Given the description of an element on the screen output the (x, y) to click on. 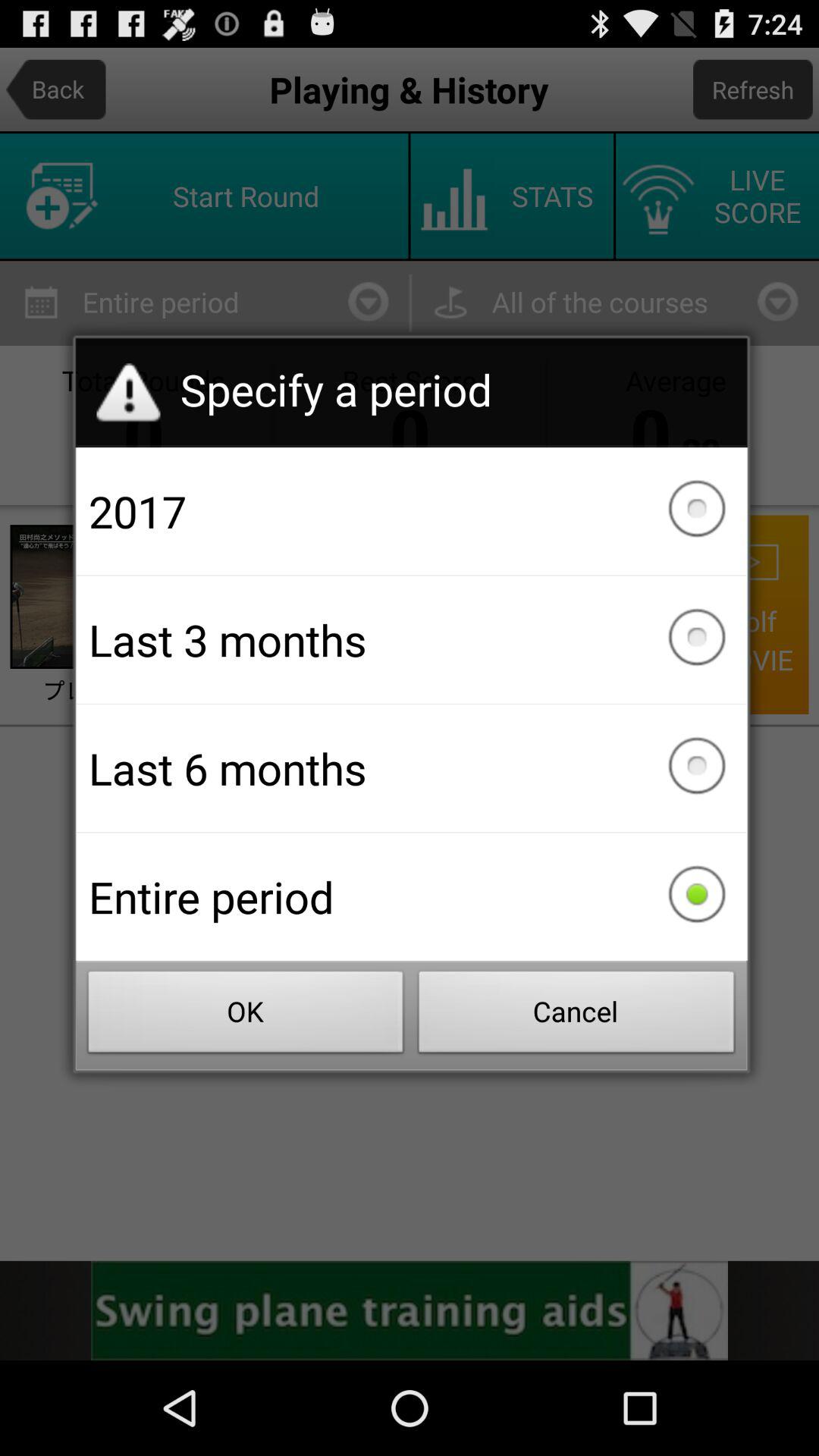
turn off the icon below the entire period checkbox (576, 1016)
